Given the description of an element on the screen output the (x, y) to click on. 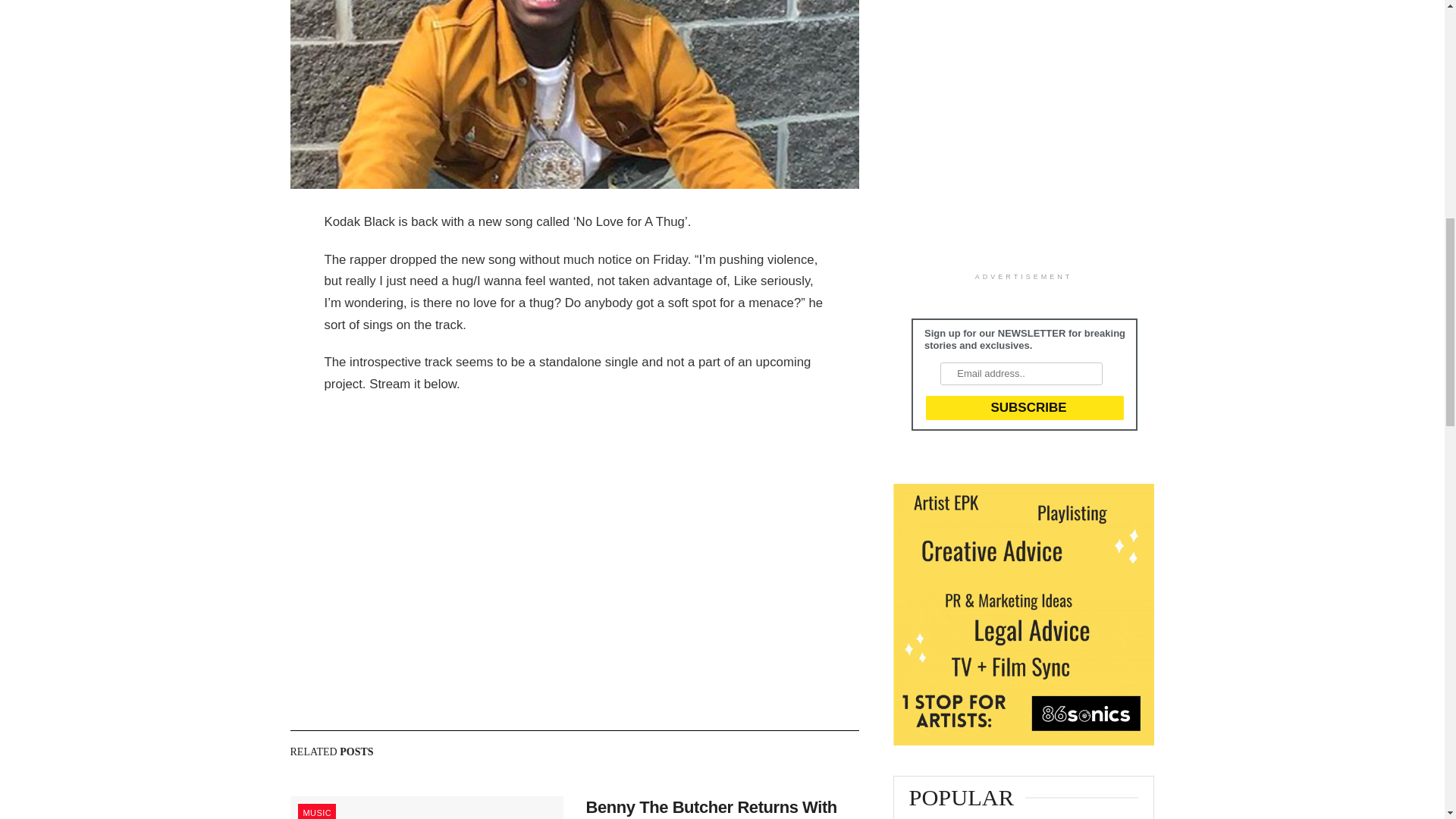
3rd party ad content (1007, 132)
